Given the description of an element on the screen output the (x, y) to click on. 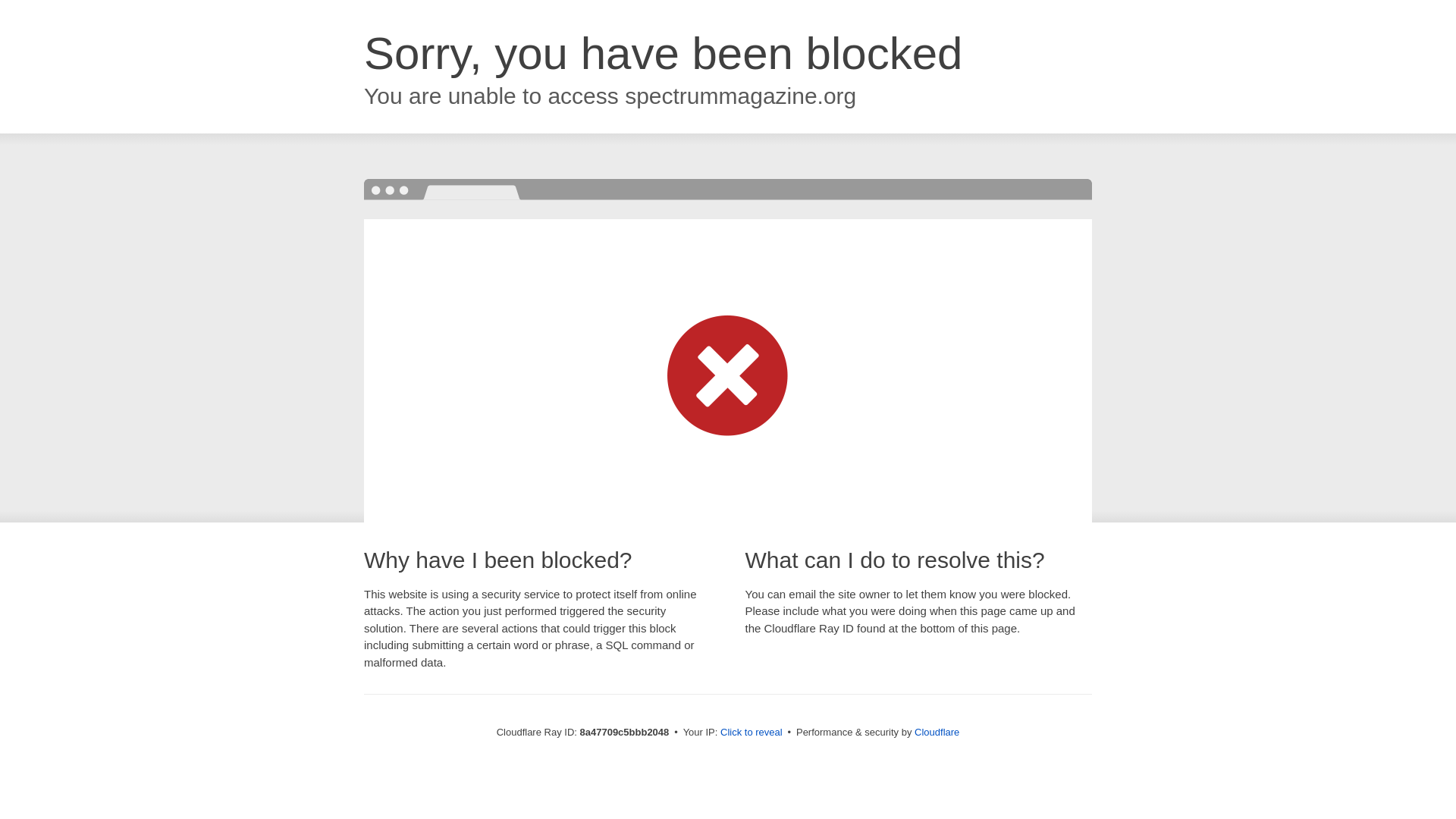
Cloudflare (936, 731)
Click to reveal (751, 732)
